Given the description of an element on the screen output the (x, y) to click on. 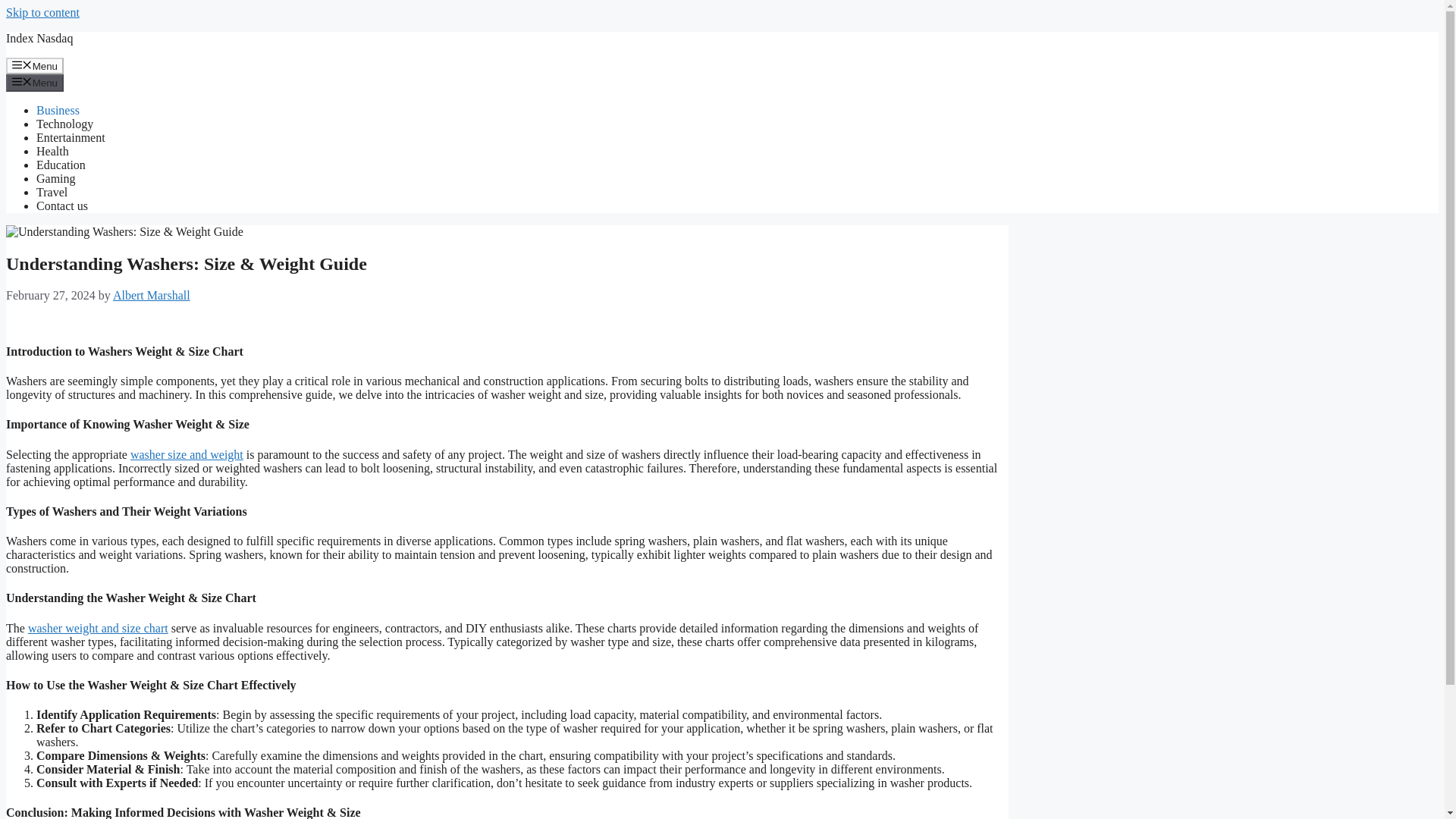
Contact us (61, 205)
Travel (51, 192)
washer size and weight (187, 454)
Skip to content (42, 11)
Health (52, 151)
washer weight and size chart (97, 627)
Education (60, 164)
Business (58, 110)
View all posts by Albert Marshall (151, 295)
Entertainment (70, 137)
Index Nasdaq (38, 38)
Technology (64, 123)
Gaming (55, 178)
Skip to content (42, 11)
Albert Marshall (151, 295)
